Given the description of an element on the screen output the (x, y) to click on. 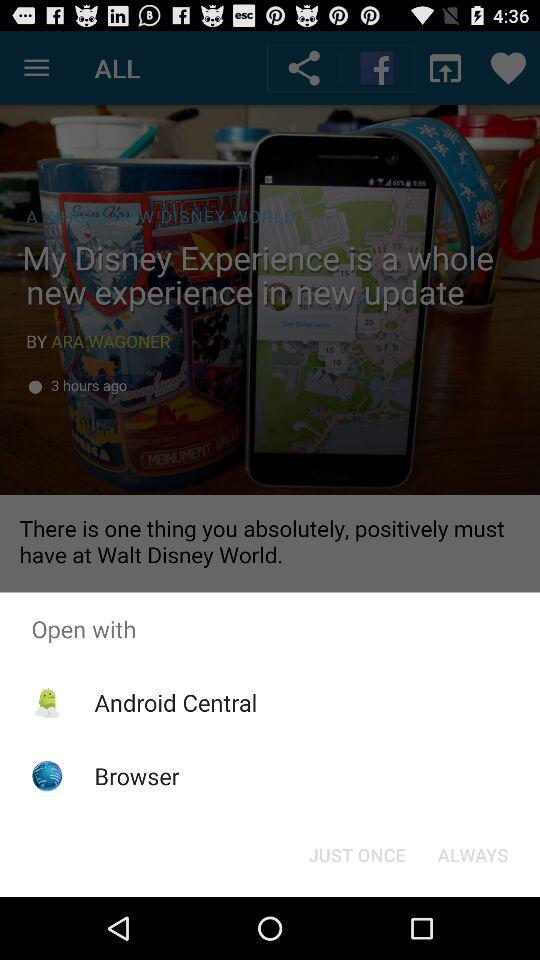
tap the app below the android central icon (136, 775)
